Given the description of an element on the screen output the (x, y) to click on. 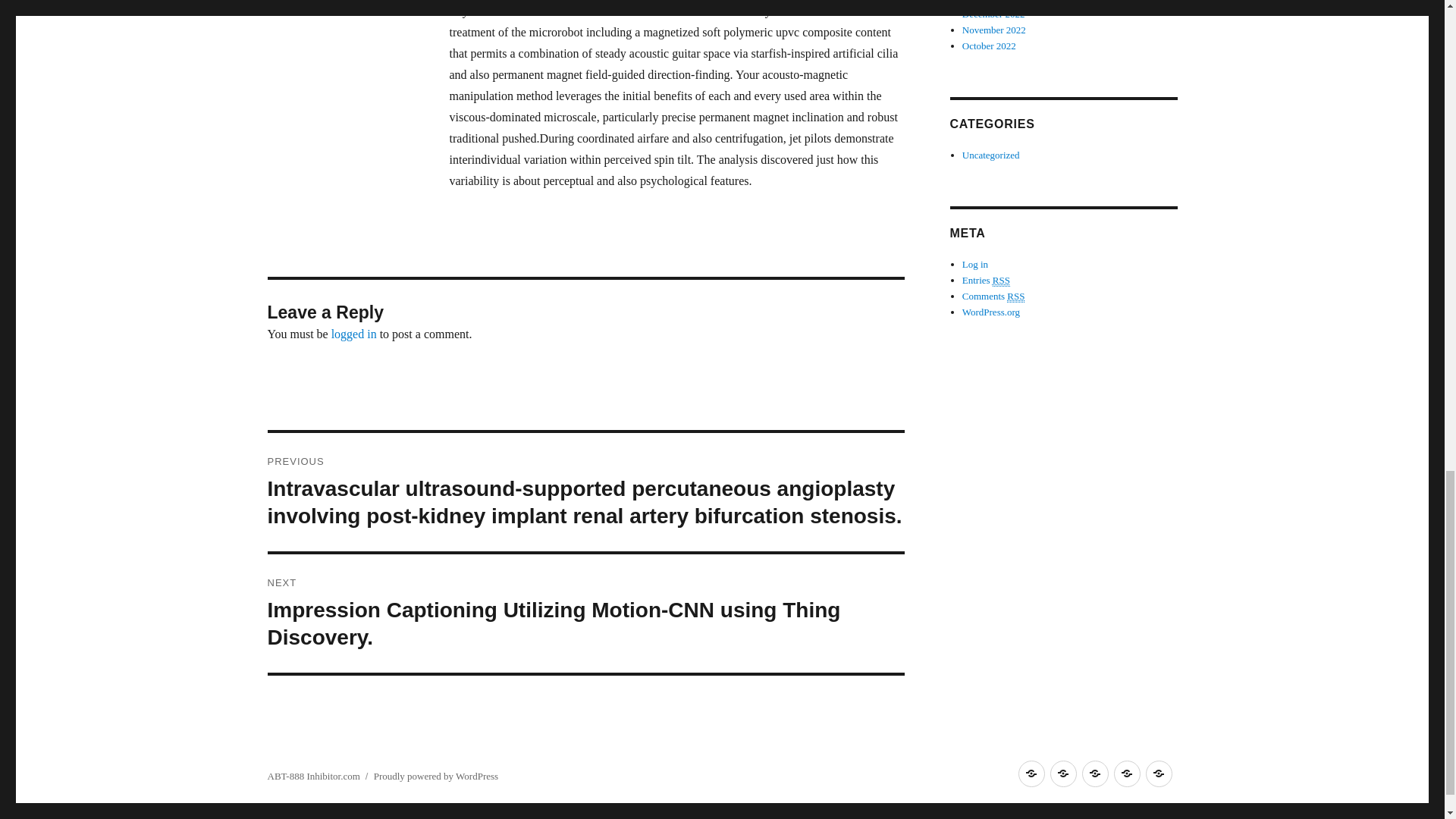
logged in (354, 333)
Really Simple Syndication (1001, 280)
Really Simple Syndication (1016, 296)
